Given the description of an element on the screen output the (x, y) to click on. 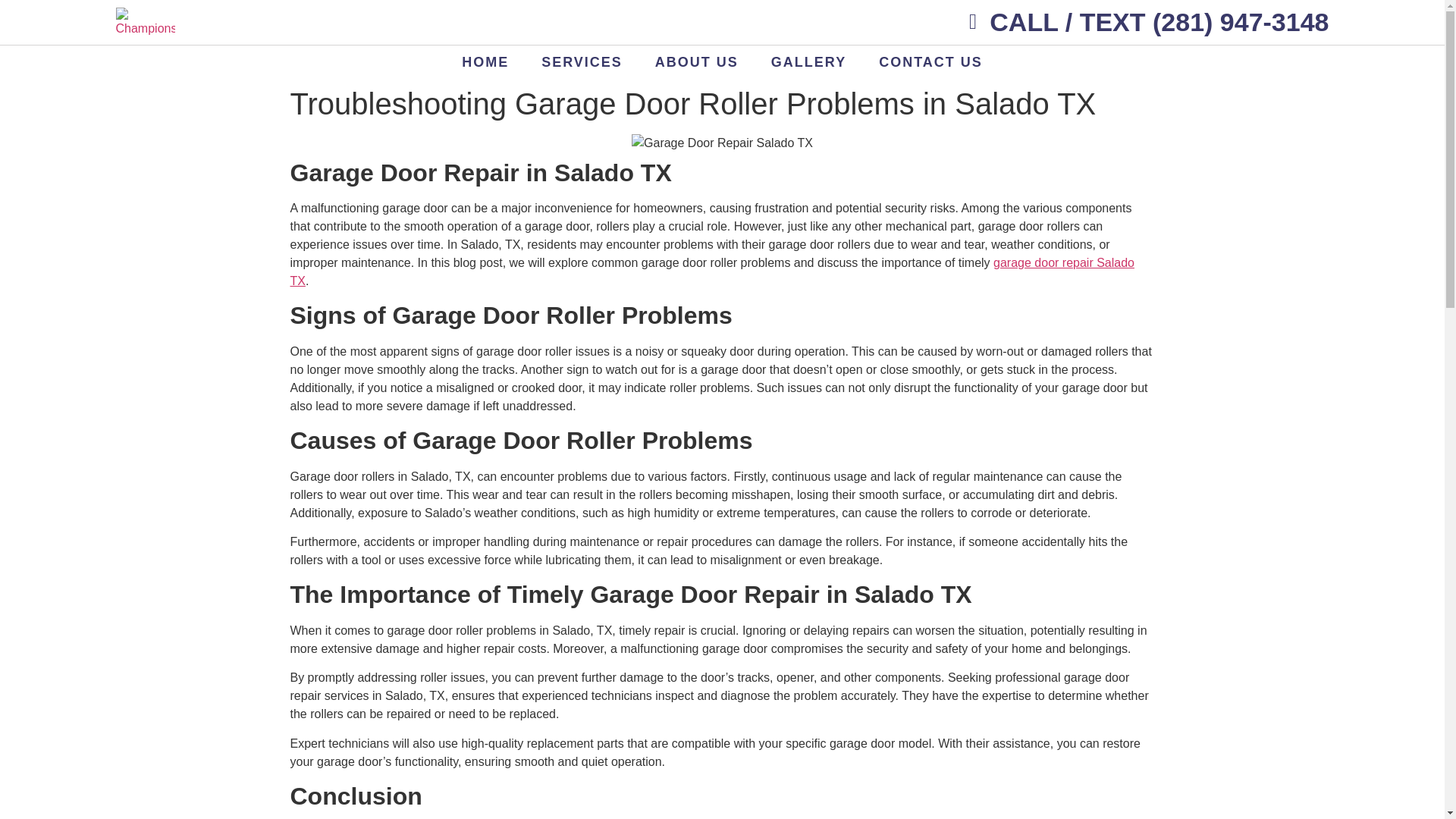
HOME (485, 62)
GALLERY (808, 62)
SERVICES (581, 62)
ABOUT US (697, 62)
CONTACT US (930, 62)
garage door repair Salado TX (711, 271)
